Given the description of an element on the screen output the (x, y) to click on. 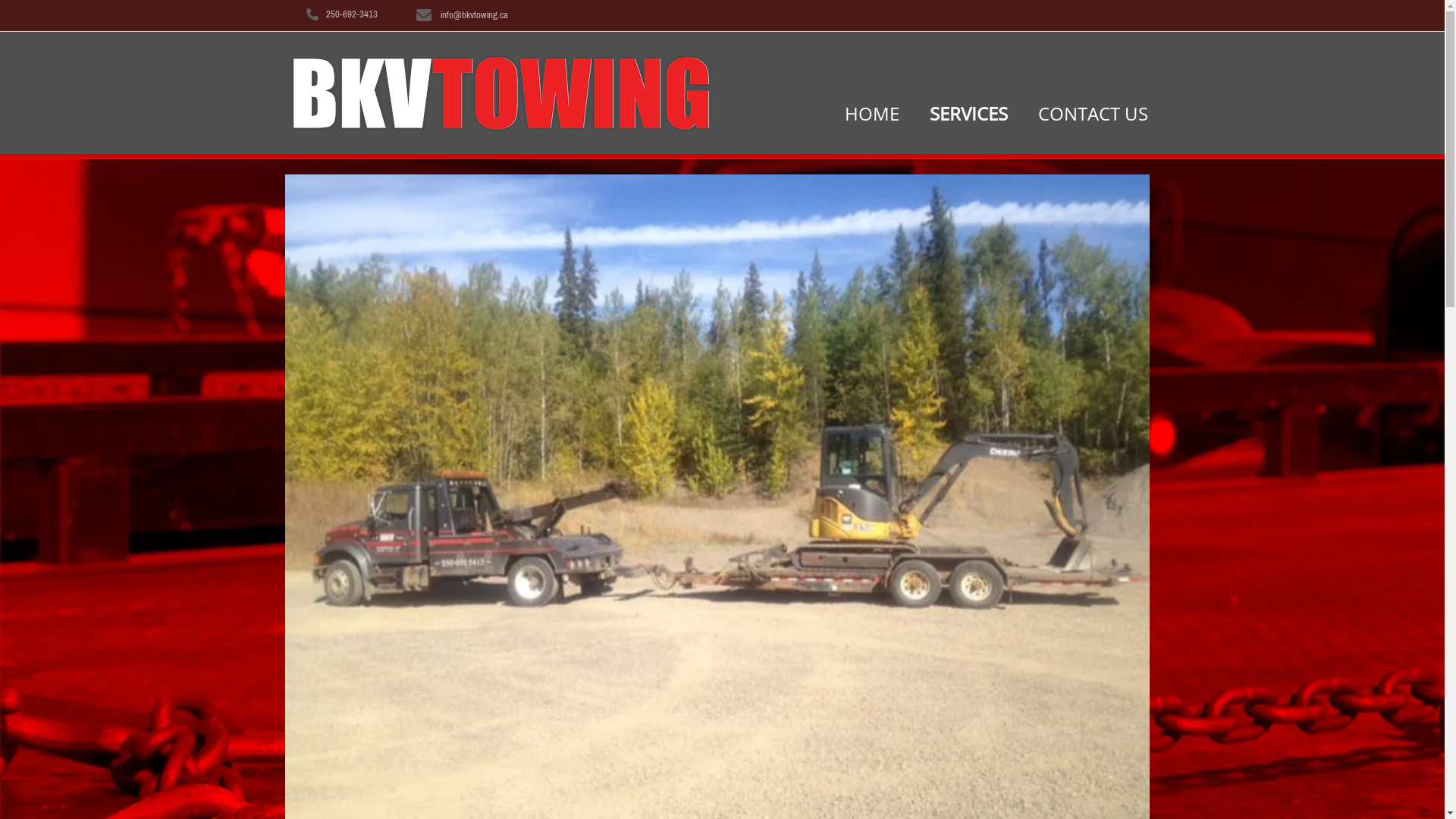
info@bkvtowing.ca Element type: text (473, 14)
HOME Element type: text (871, 118)
SERVICES Element type: text (968, 118)
CONTACT US Element type: text (1092, 118)
250-692-3413 Element type: text (351, 13)
